Given the description of an element on the screen output the (x, y) to click on. 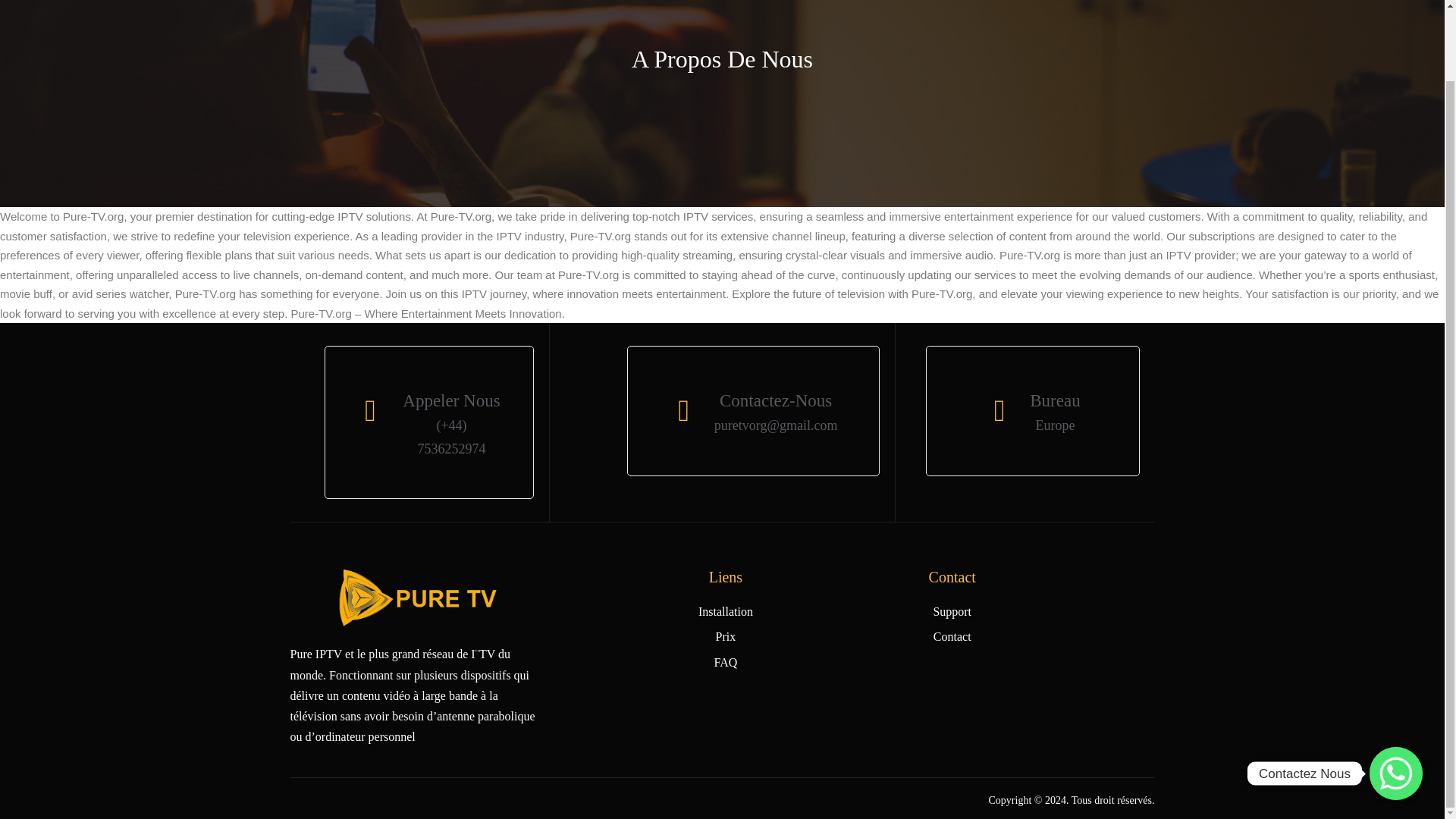
Installation (725, 611)
Prix (725, 636)
Support (952, 611)
FAQ (725, 661)
Contact (952, 636)
Contactez Nous (1396, 694)
